Given the description of an element on the screen output the (x, y) to click on. 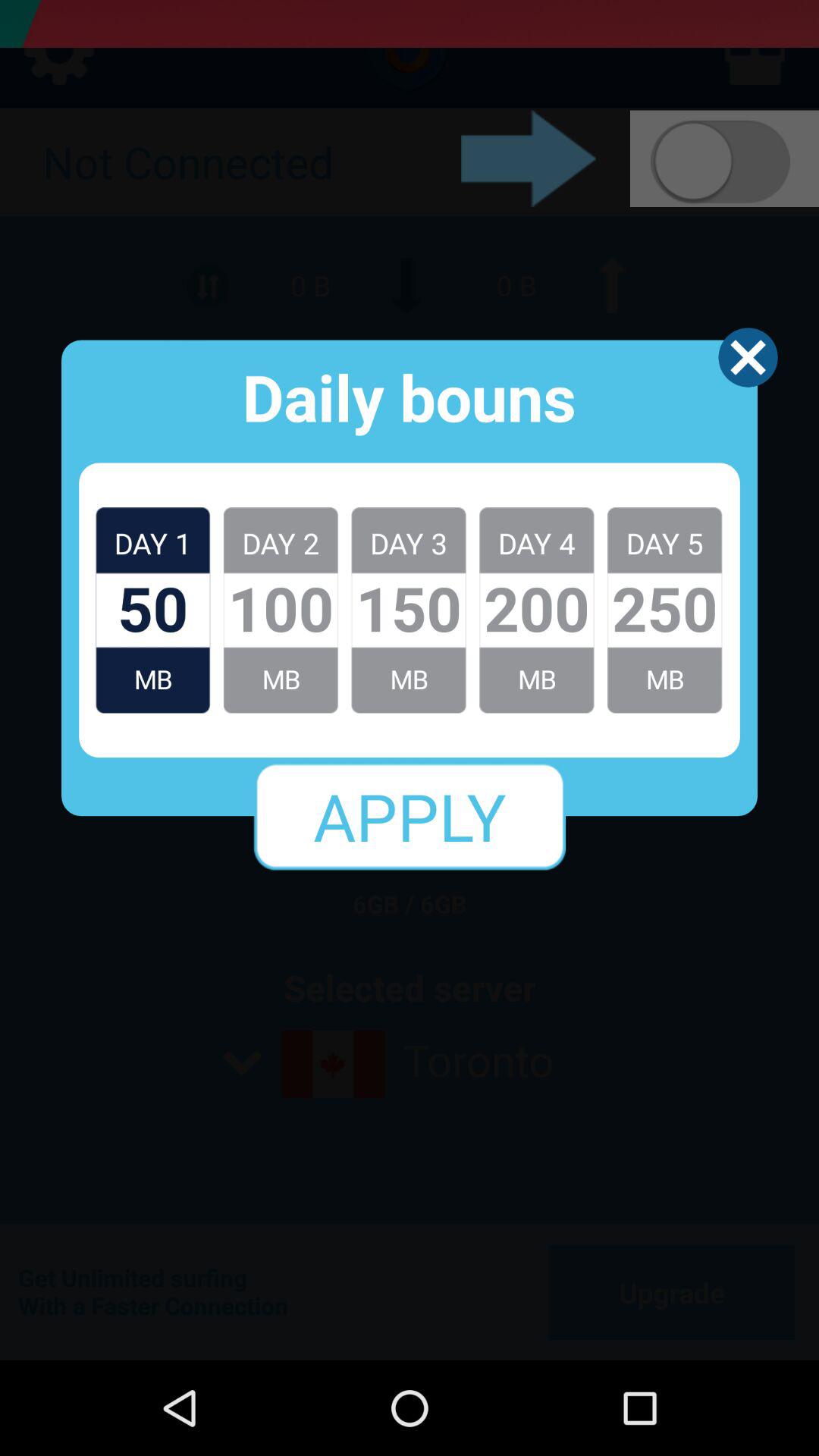
click apply icon (409, 815)
